Given the description of an element on the screen output the (x, y) to click on. 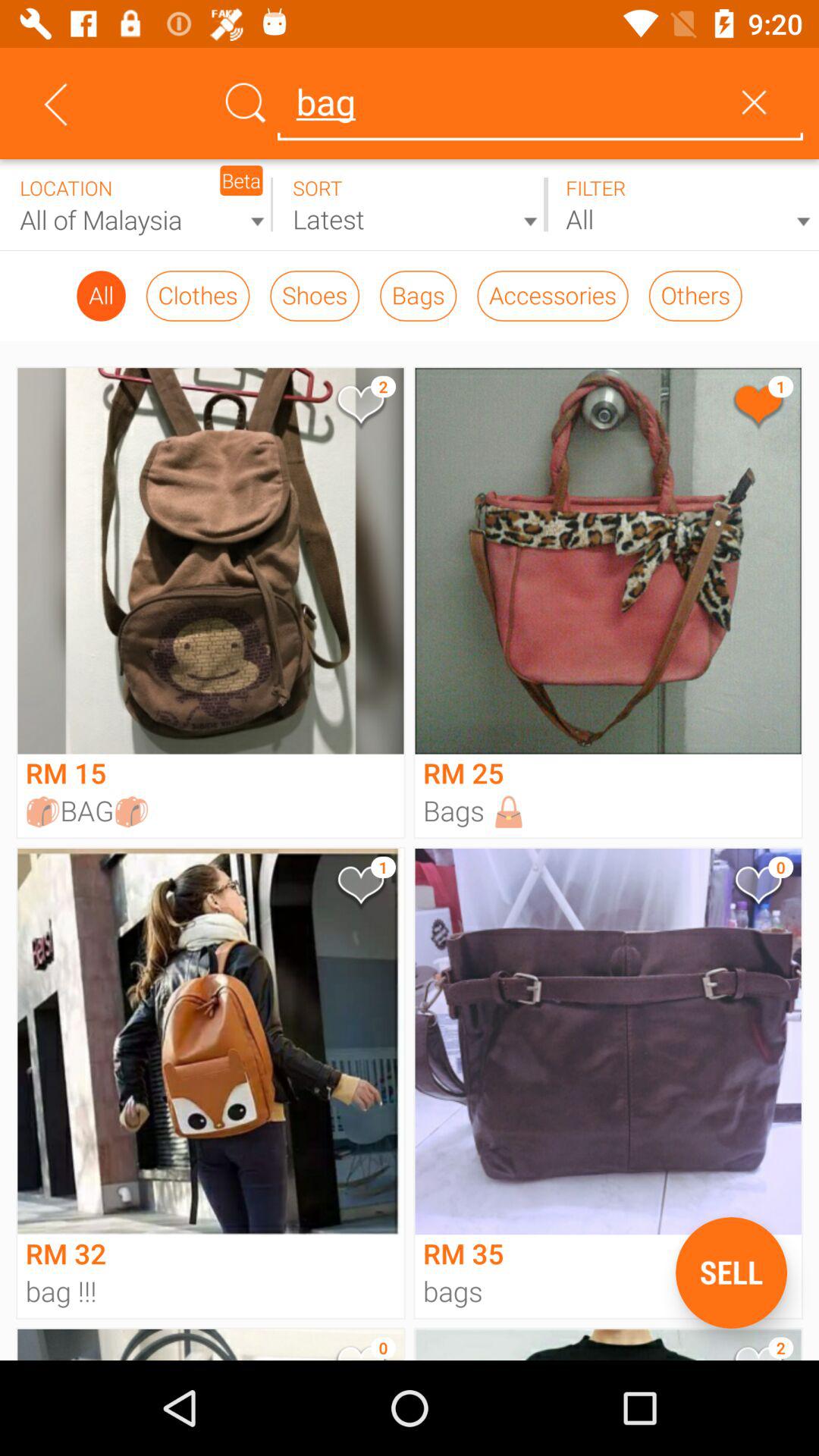
filters search results (682, 204)
